Given the description of an element on the screen output the (x, y) to click on. 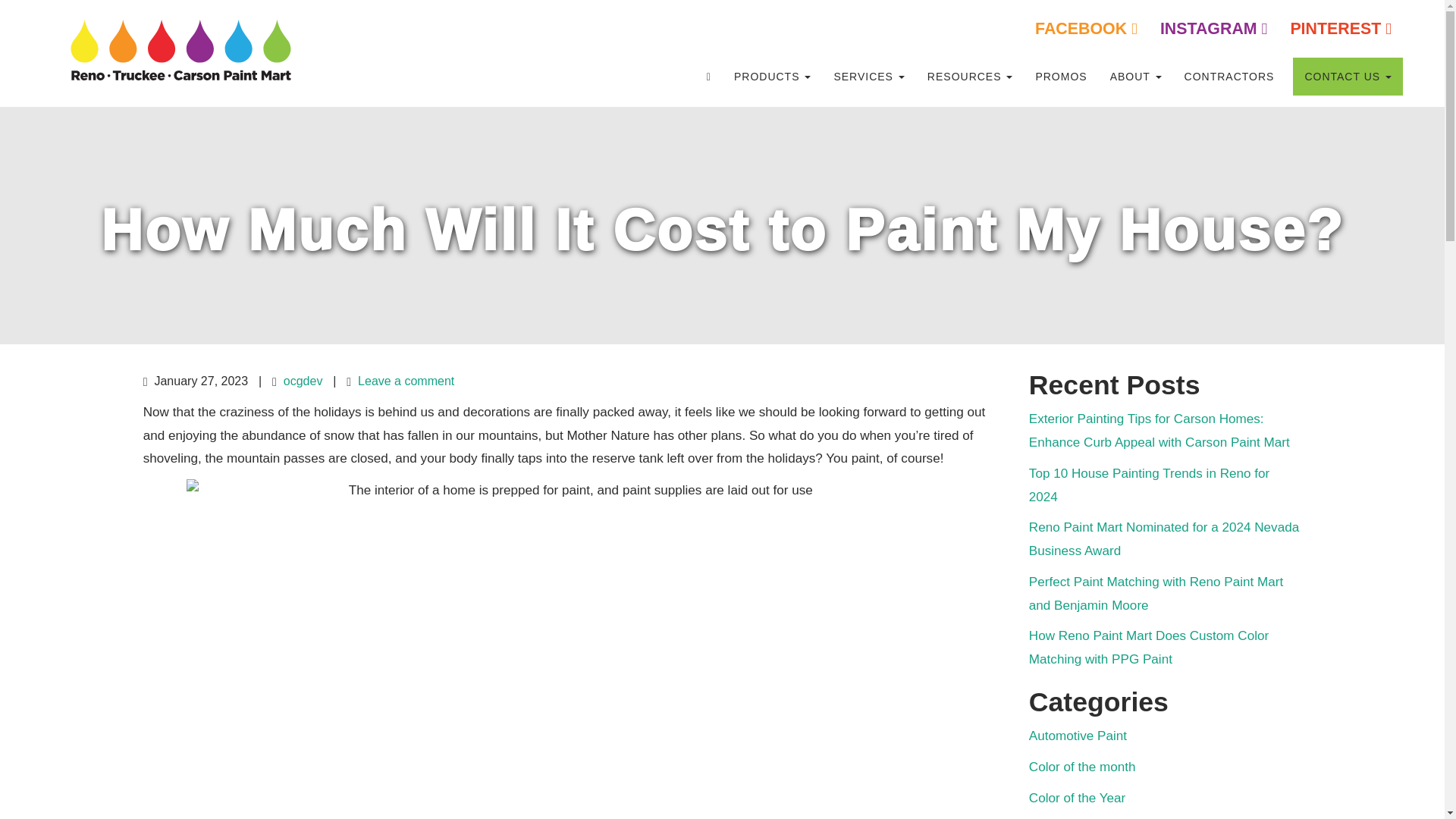
ABOUT (1136, 76)
PROMOS (1060, 76)
FACEBOOK (1086, 28)
RESOURCES (970, 76)
SERVICES (868, 76)
Leave a comment (406, 380)
INSTAGRAM (1214, 28)
CONTRACTORS (1229, 76)
Products (772, 76)
RENO PAINT MART (458, 76)
PINTEREST (1340, 28)
CONTACT US (1347, 76)
PRODUCTS (772, 76)
